Given the description of an element on the screen output the (x, y) to click on. 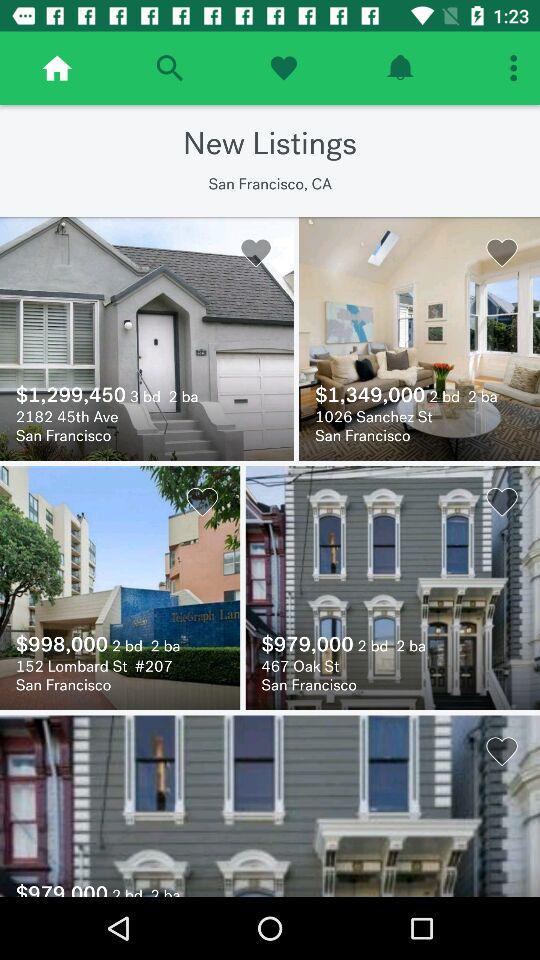
go to search (169, 68)
